Given the description of an element on the screen output the (x, y) to click on. 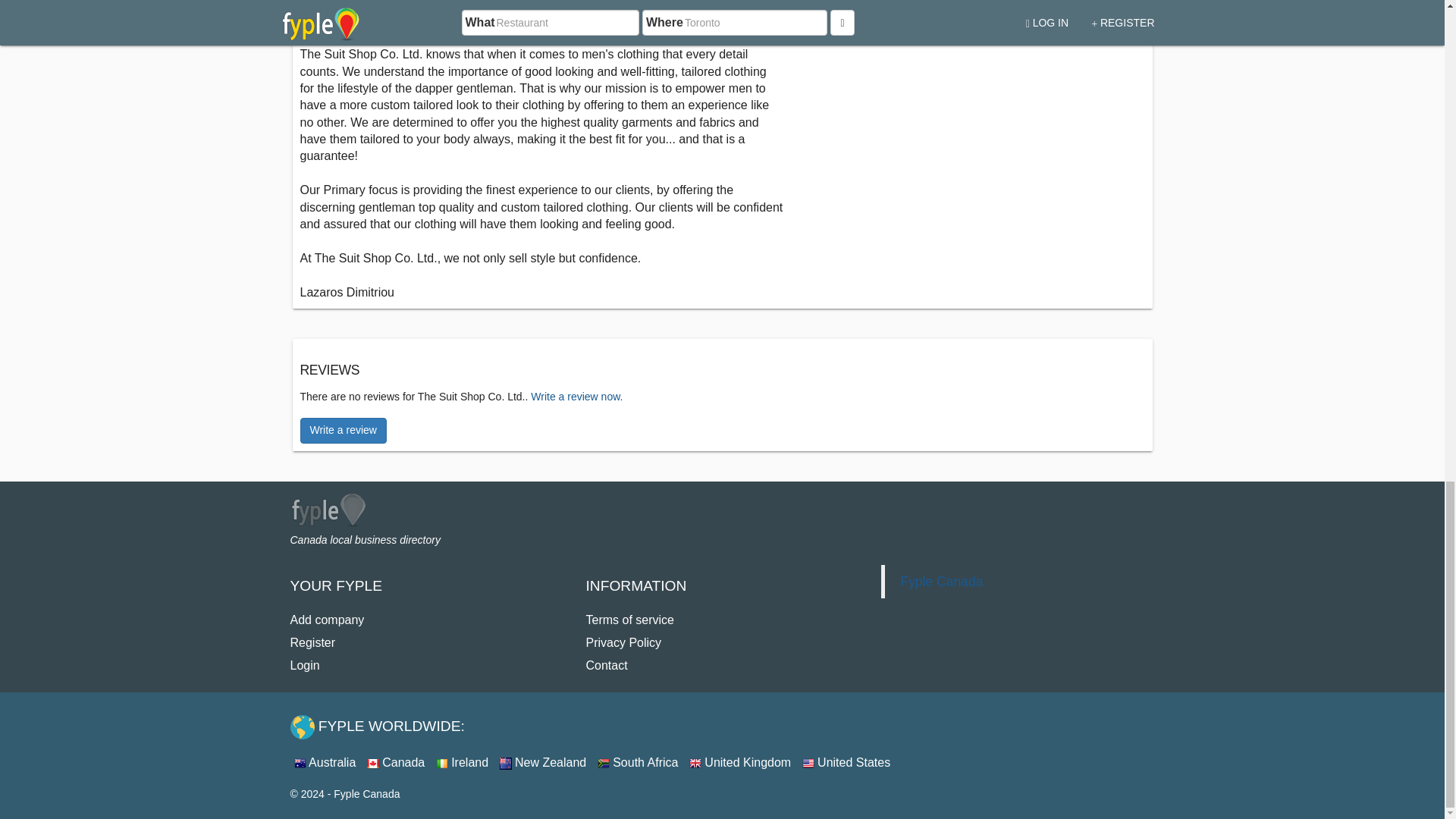
Fyple Australia (325, 762)
Fyple South Africa (637, 762)
Fyple New Zealand (542, 762)
Fyple Republic of Ireland (461, 762)
Fyple Canada (395, 762)
Fyple United Kingdom (739, 762)
